Given the description of an element on the screen output the (x, y) to click on. 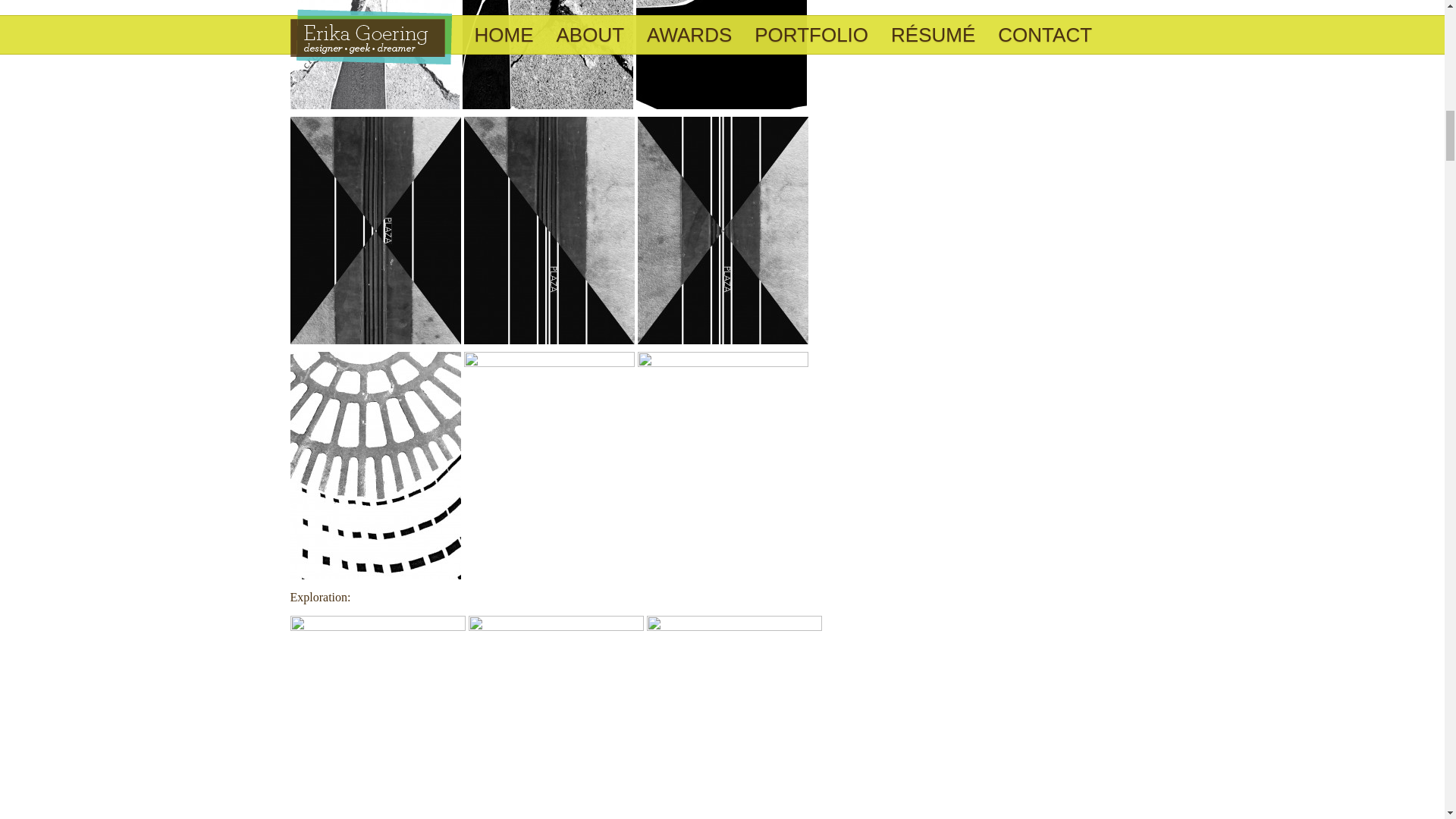
crossroads1 (373, 54)
